Given the description of an element on the screen output the (x, y) to click on. 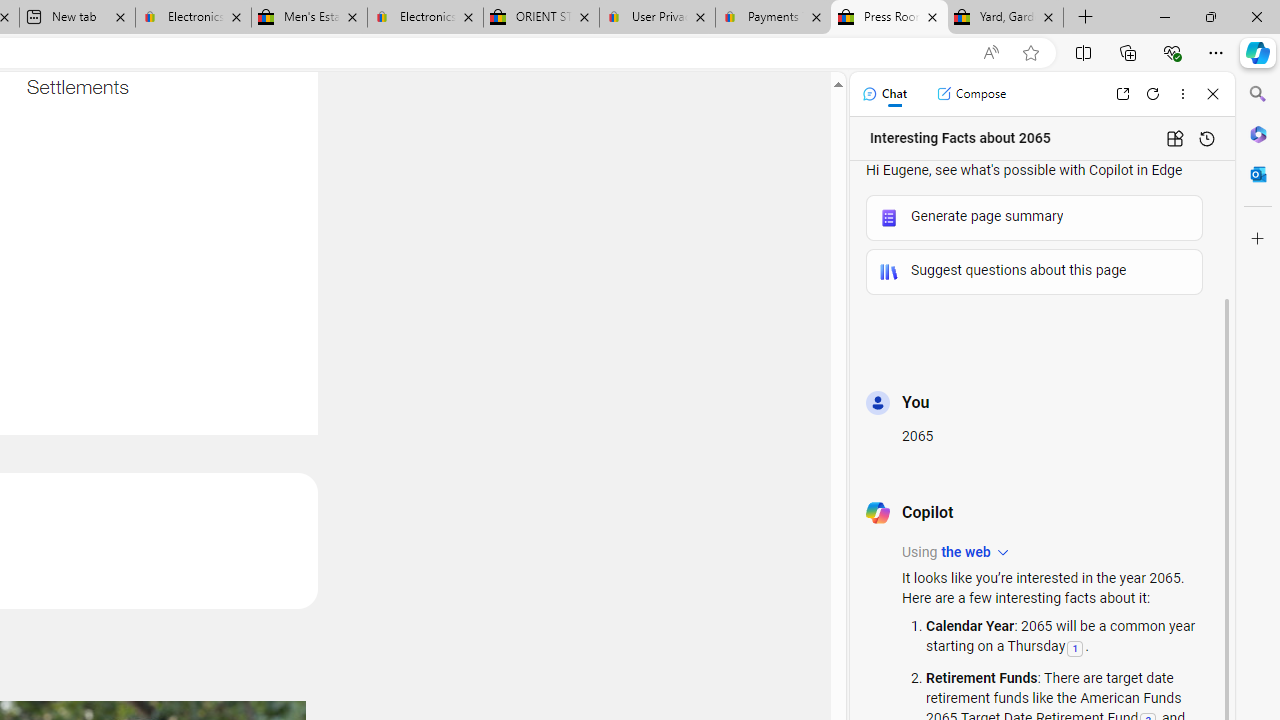
Chat (884, 93)
User Privacy Notice | eBay (657, 17)
Open link in new tab (1122, 93)
Press Room - eBay Inc. (889, 17)
